Given the description of an element on the screen output the (x, y) to click on. 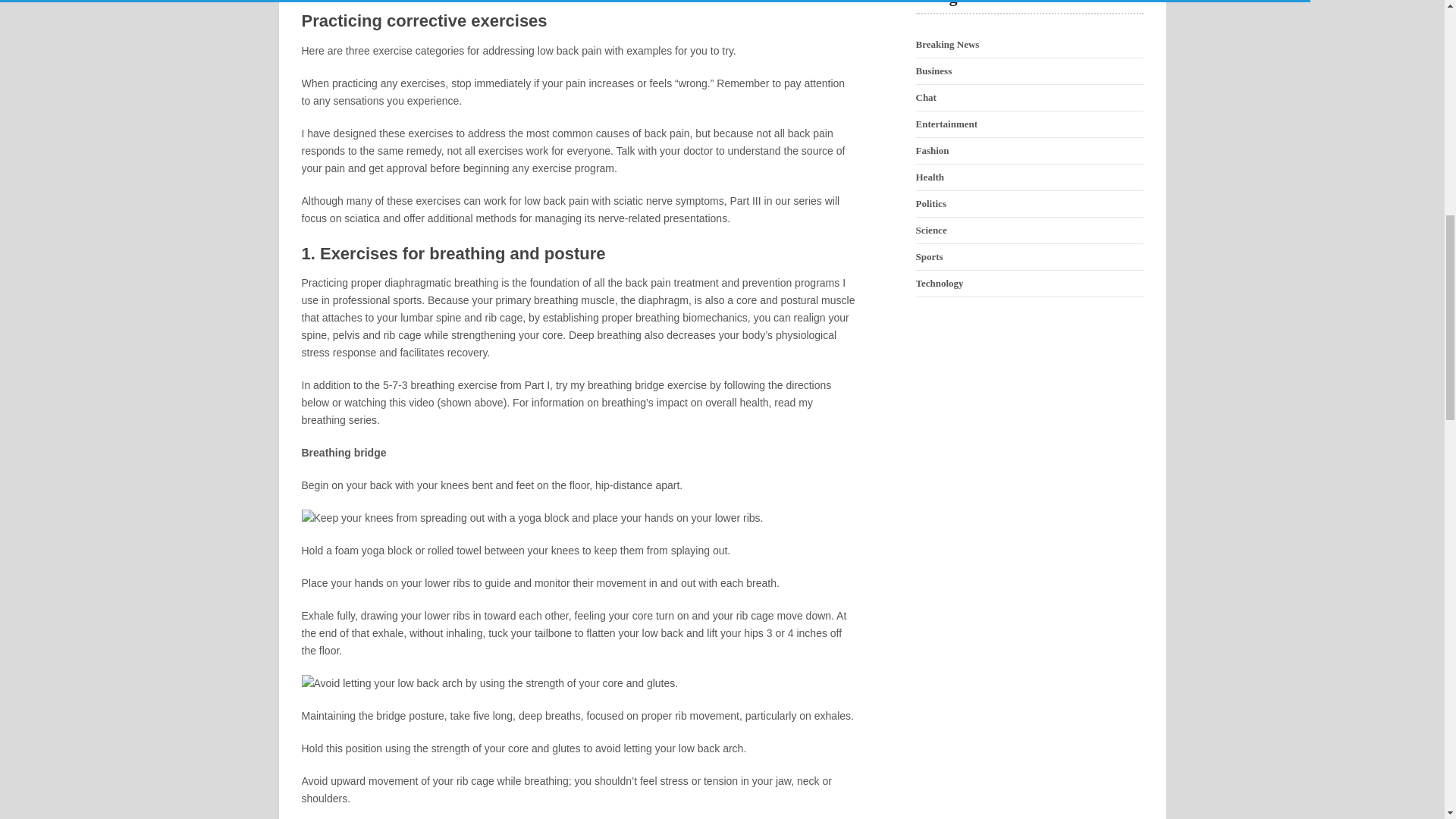
Sports (929, 256)
Business (933, 70)
Entertainment (946, 123)
Breaking News (947, 43)
Politics (930, 203)
Chat (925, 97)
Health (929, 176)
Fashion (932, 150)
Science (931, 229)
